Given the description of an element on the screen output the (x, y) to click on. 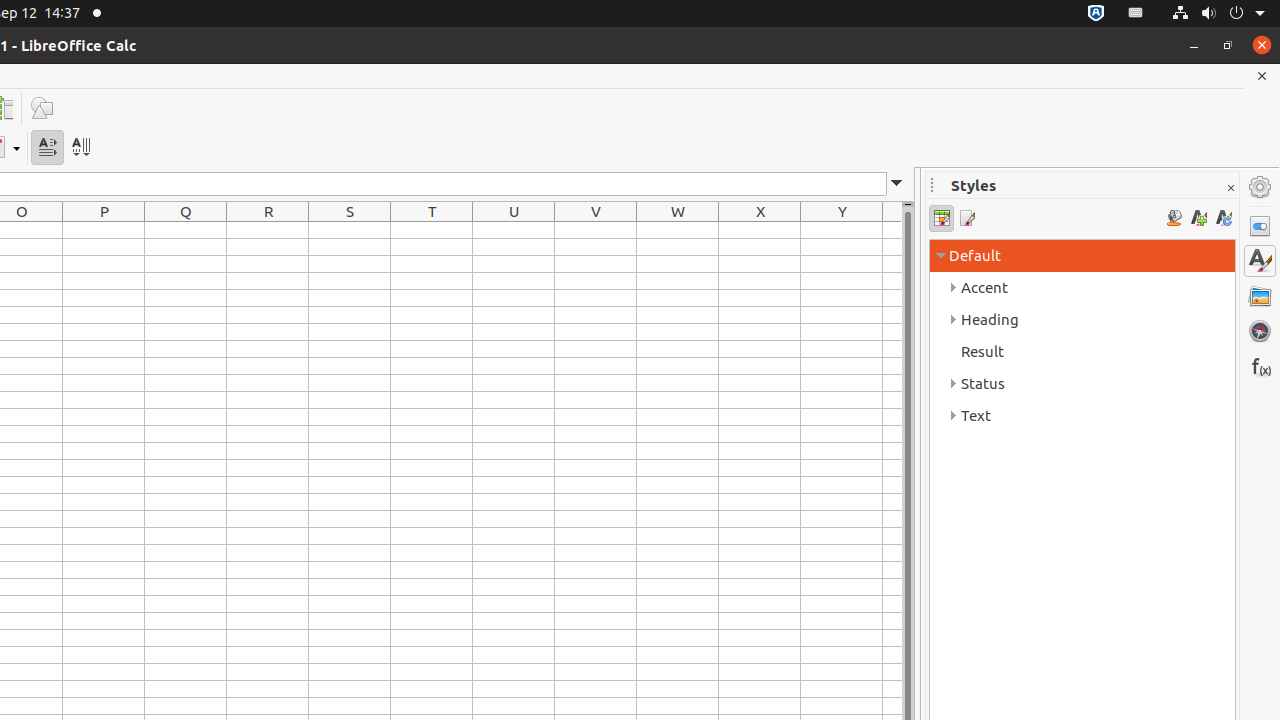
Close Sidebar Deck Element type: push-button (1230, 188)
:1.72/StatusNotifierItem Element type: menu (1096, 13)
Fill Format Mode Element type: push-button (1173, 218)
:1.21/StatusNotifierItem Element type: menu (1136, 13)
P1 Element type: table-cell (104, 230)
